Given the description of an element on the screen output the (x, y) to click on. 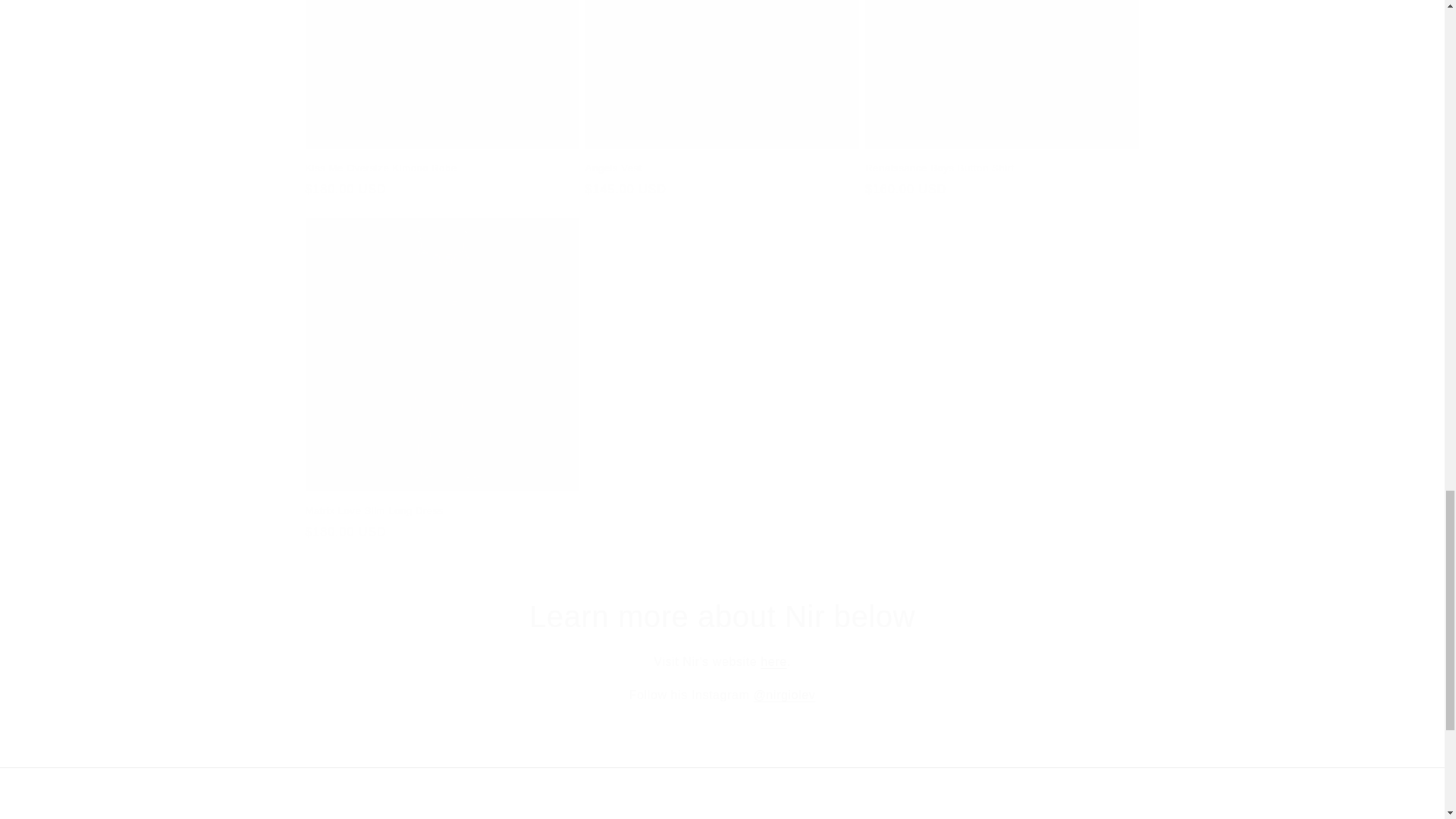
Learn more about Nir below (721, 616)
